Given the description of an element on the screen output the (x, y) to click on. 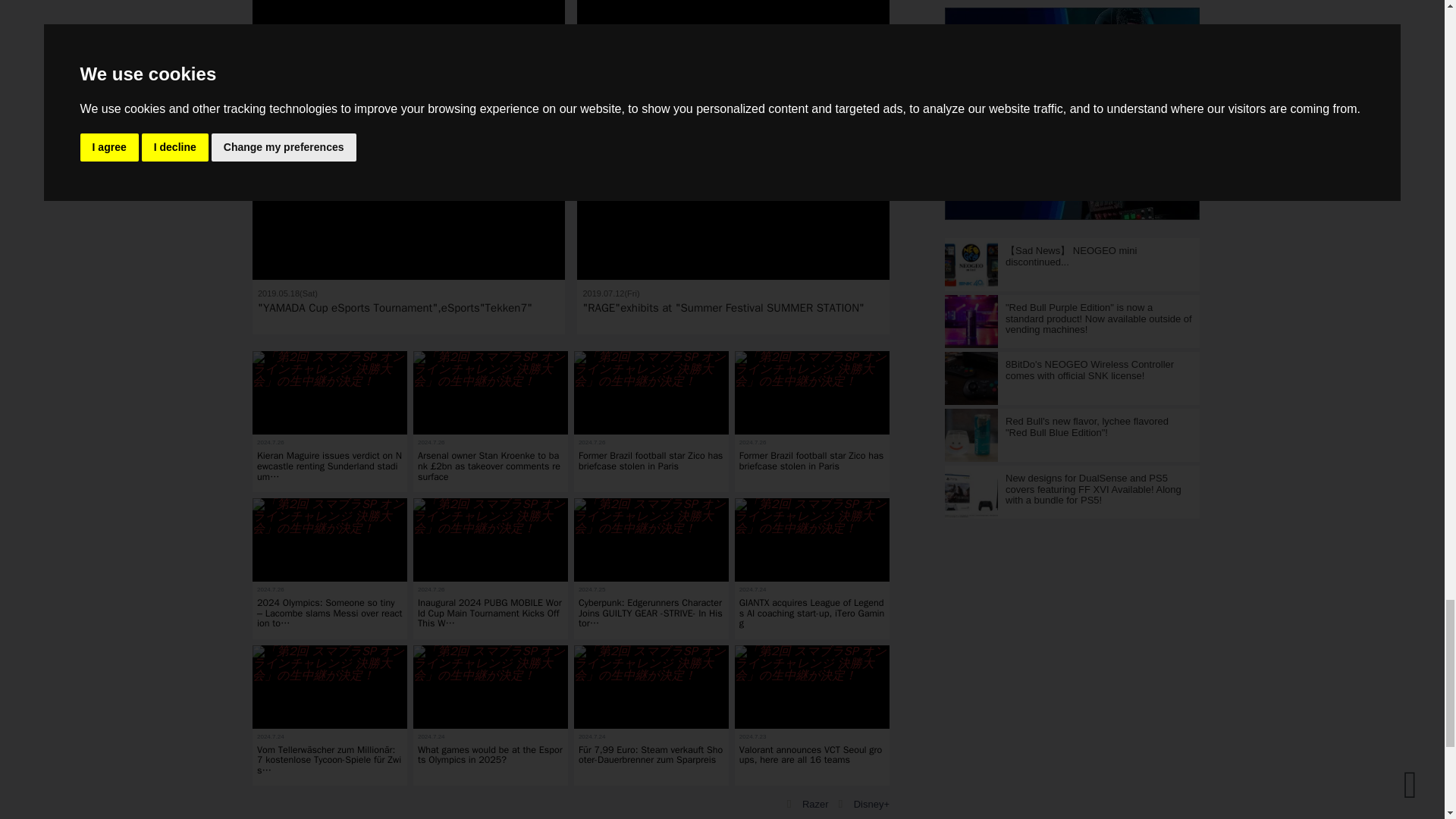
Celebrating release of  (407, 53)
